Given the description of an element on the screen output the (x, y) to click on. 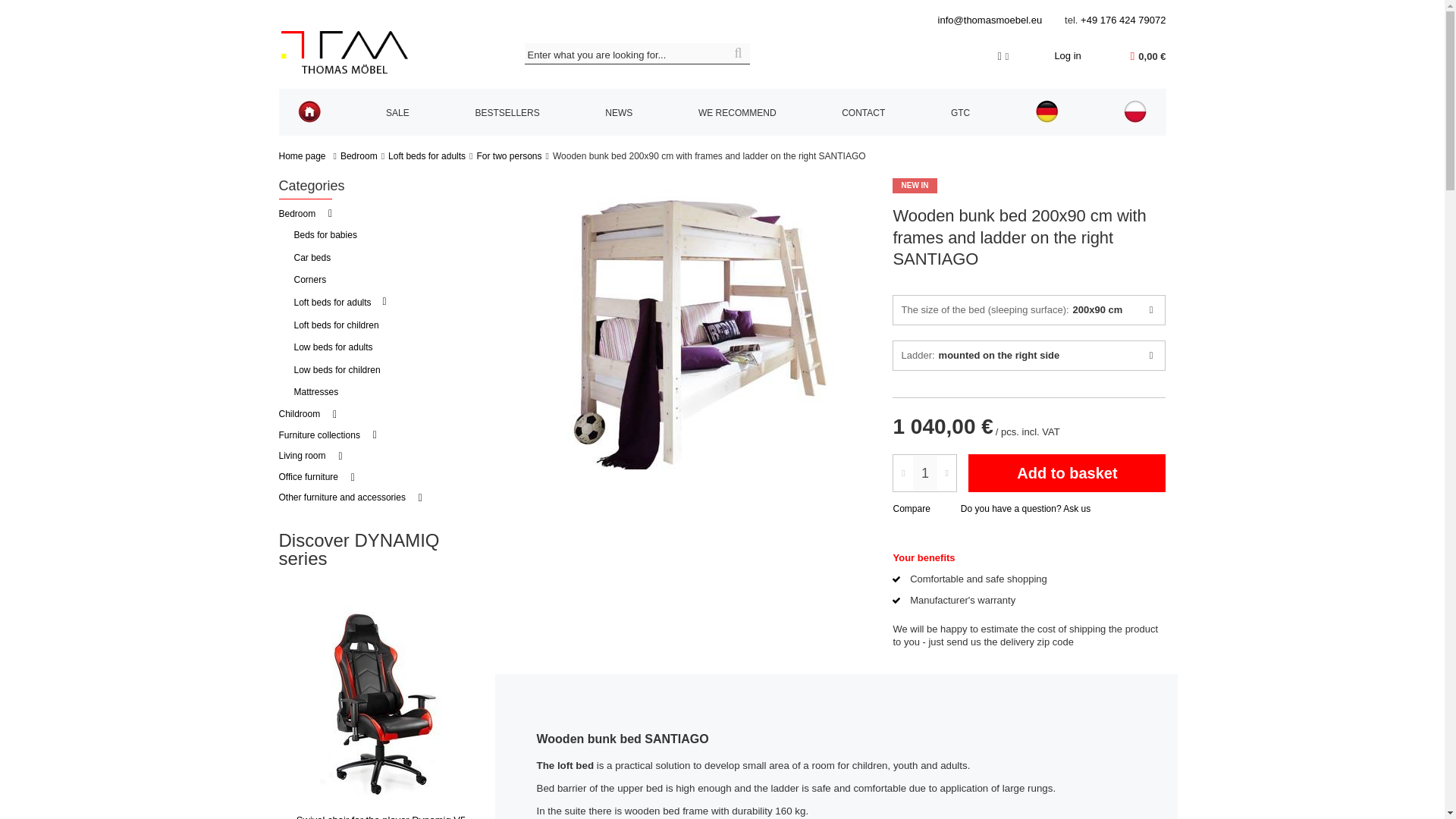
Bedroom (306, 214)
Home page (308, 113)
German version (1046, 113)
BESTSELLERS (507, 113)
GTC (959, 113)
Bestsellers (507, 113)
News (618, 113)
WE RECOMMEND (737, 113)
Bedroom (306, 214)
For two persons (508, 155)
Childroom (308, 414)
Categories (312, 185)
Loft beds for children (336, 325)
Loft beds for adults (426, 155)
Beds for babies (325, 235)
